Given the description of an element on the screen output the (x, y) to click on. 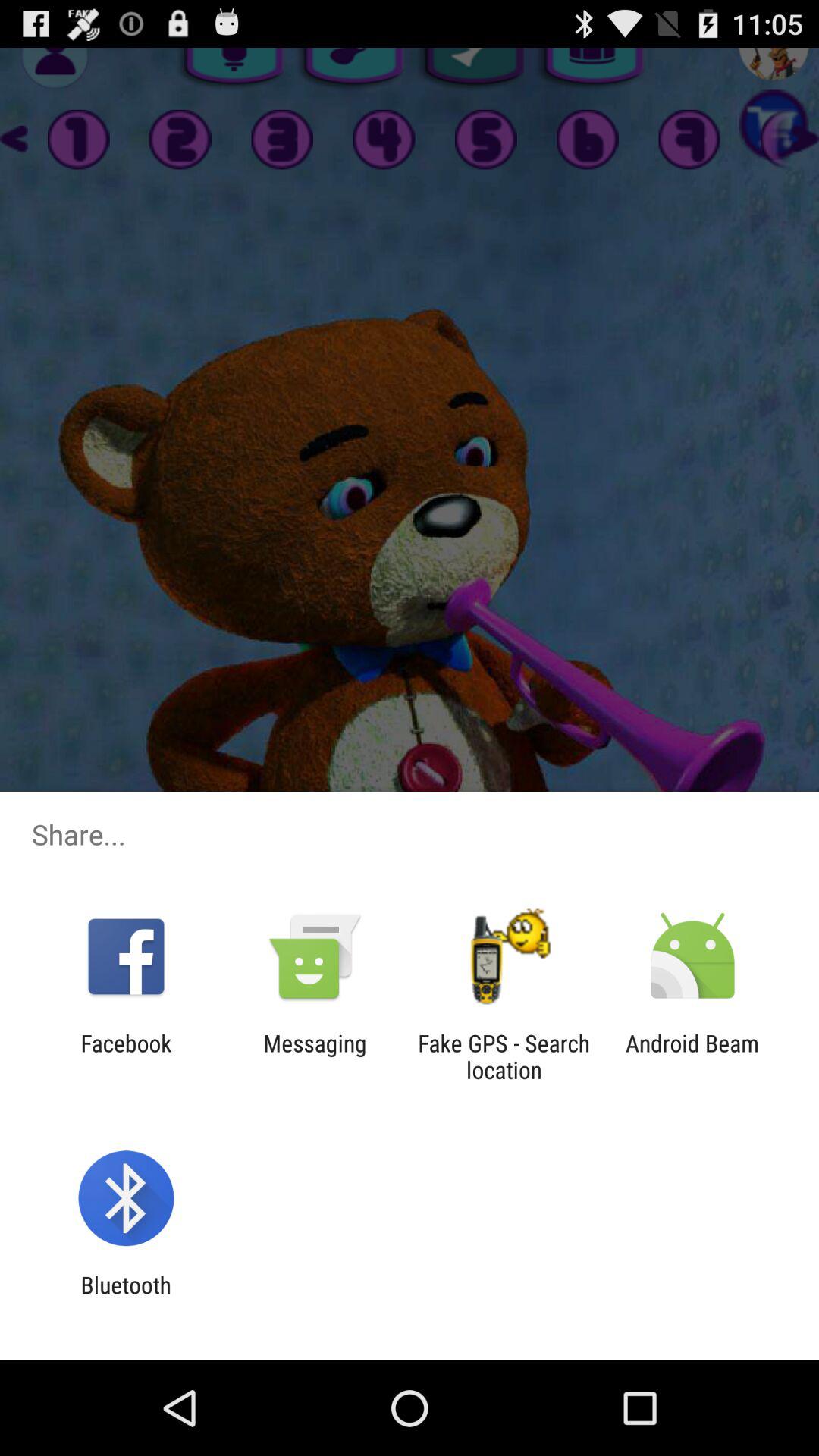
select icon to the right of facebook item (314, 1056)
